Given the description of an element on the screen output the (x, y) to click on. 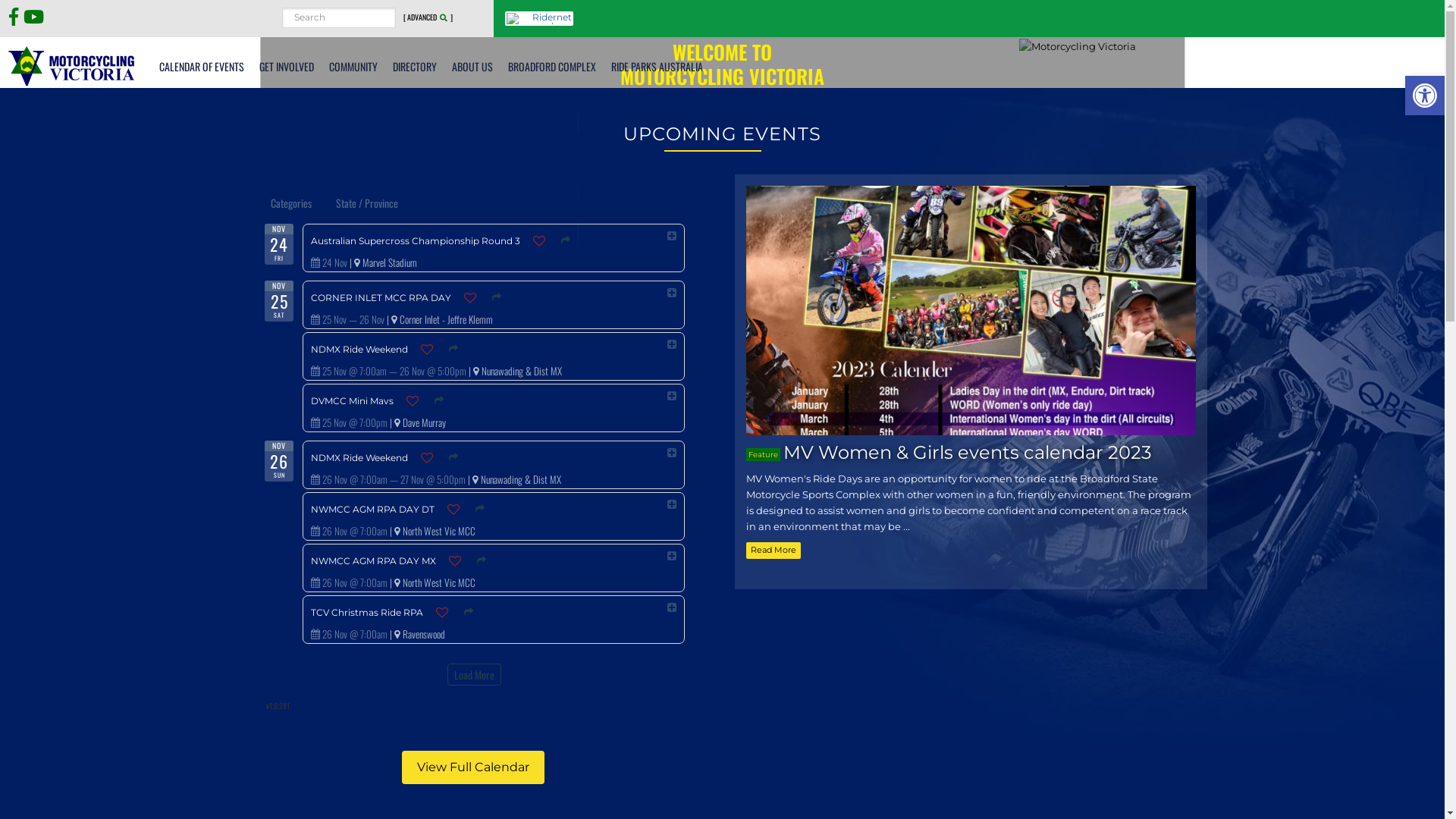
[ ADVANCED ] Element type: text (427, 16)
CALENDAR OF EVENTS Element type: text (201, 65)
COMMUNITY Element type: text (353, 65)
View Full Calendar Element type: text (472, 767)
DIRECTORY Element type: text (414, 65)
MV Women & Girls events calendar 2023 Element type: text (967, 452)
Read More Element type: text (773, 550)
Skip to primary navigation Element type: text (0, 0)
Open toolbar
Accessibility Tools Element type: text (1424, 95)
BROADFORD COMPLEX Element type: text (551, 65)
Motorcycling Victoria Element type: text (71, 65)
Focus Button Element type: text (276, 185)
GET INVOLVED Element type: text (286, 65)
timely-iframe-embed-0 Element type: hover (472, 451)
Search Element type: text (395, 6)
RIDE PARKS AUSTRALIA Element type: text (656, 65)
ABOUT US Element type: text (472, 65)
